Given the description of an element on the screen output the (x, y) to click on. 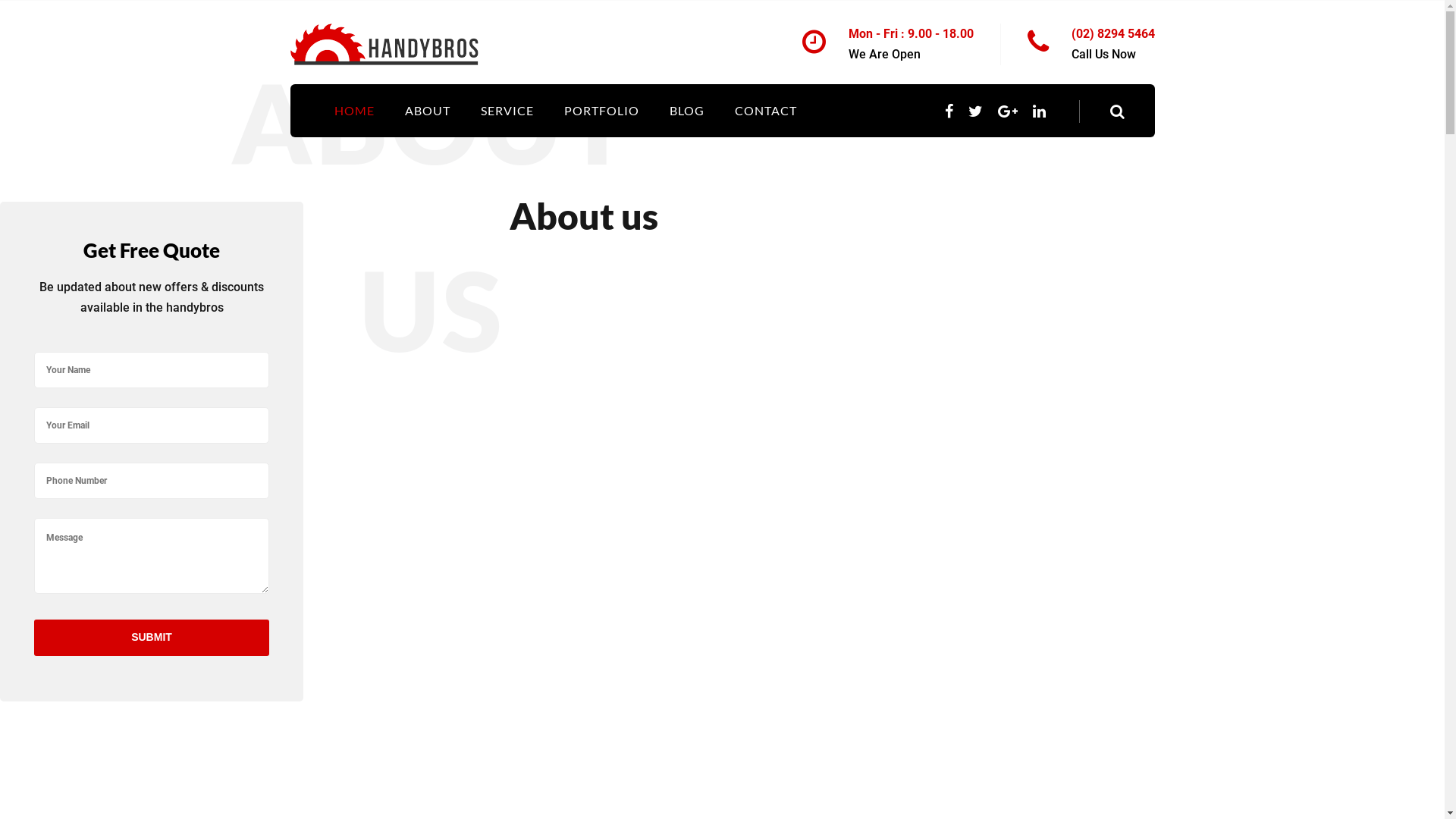
HOME Element type: text (353, 110)
PORTFOLIO Element type: text (601, 110)
SERVICE Element type: text (507, 110)
BLOG Element type: text (685, 110)
CONTACT Element type: text (764, 110)
ABOUT Element type: text (427, 110)
Submit Element type: text (151, 637)
